Given the description of an element on the screen output the (x, y) to click on. 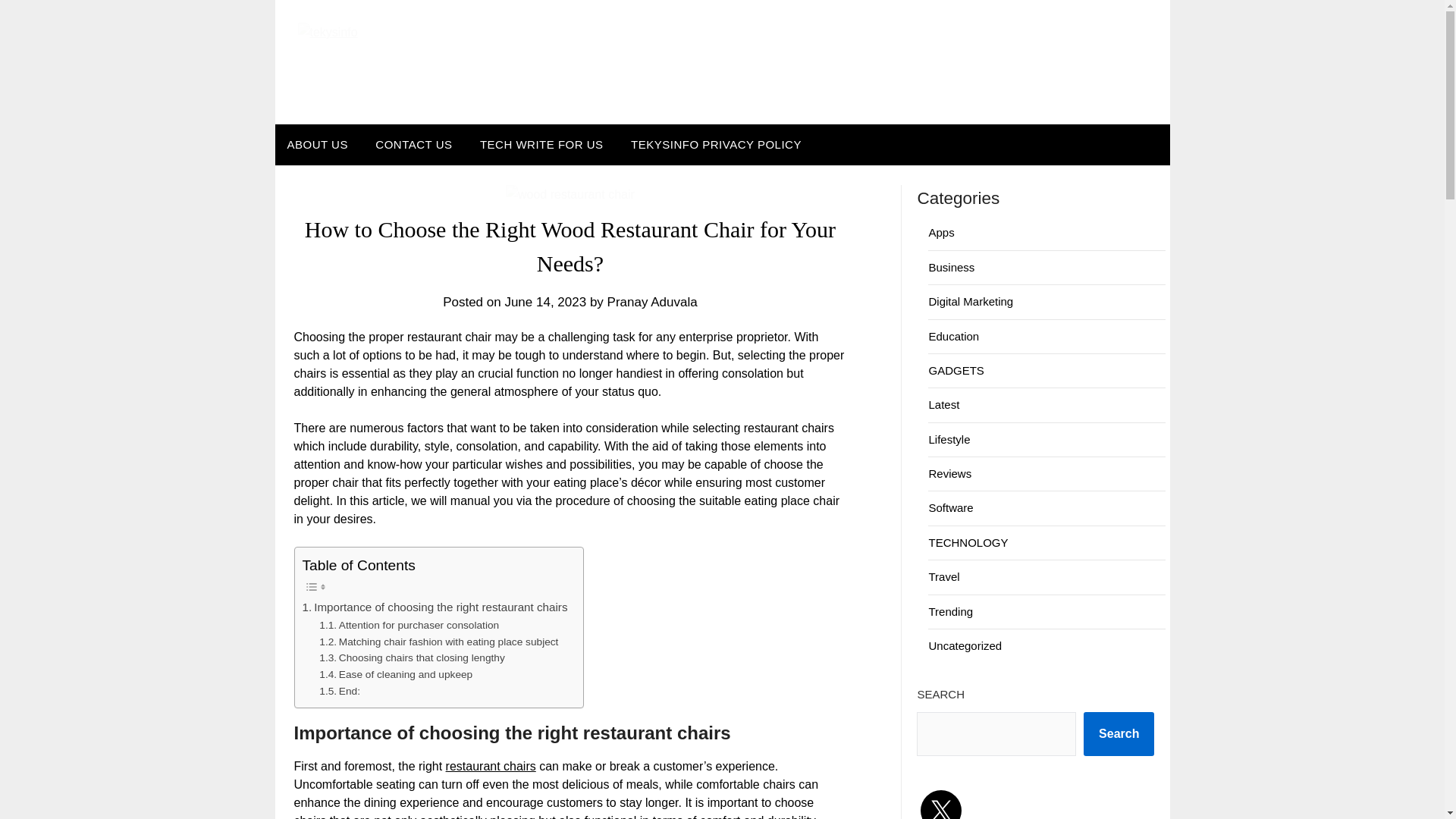
Business (951, 267)
End: (338, 691)
Software (950, 507)
Importance of choosing the right restaurant chairs (434, 607)
TEKYSINFO PRIVACY POLICY (715, 144)
CONTACT US (413, 144)
restaurant chairs (490, 766)
GADGETS (956, 369)
End: (338, 691)
TECHNOLOGY (967, 542)
